Given the description of an element on the screen output the (x, y) to click on. 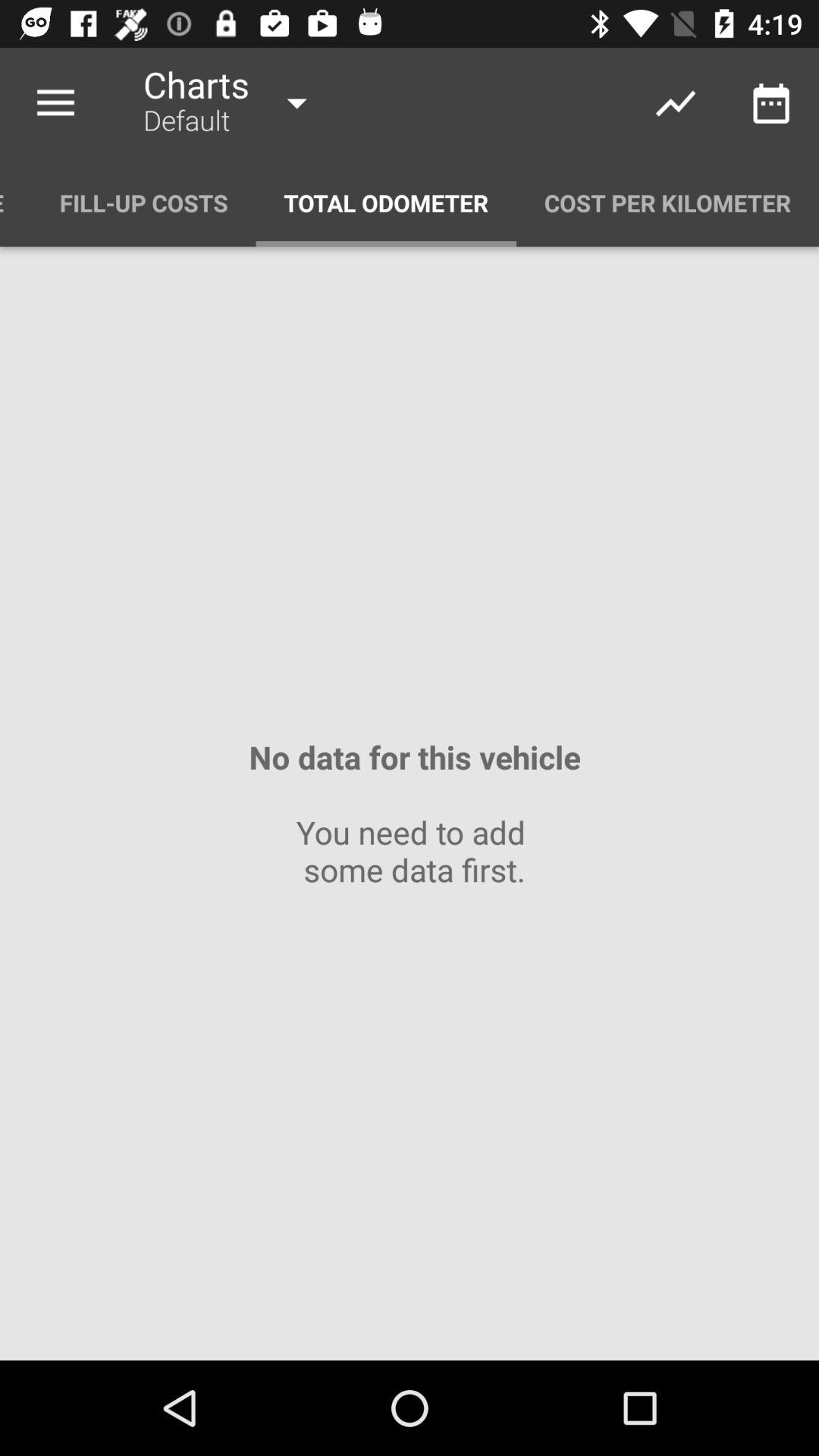
turn off the icon to the left of the fill-up costs item (15, 202)
